Given the description of an element on the screen output the (x, y) to click on. 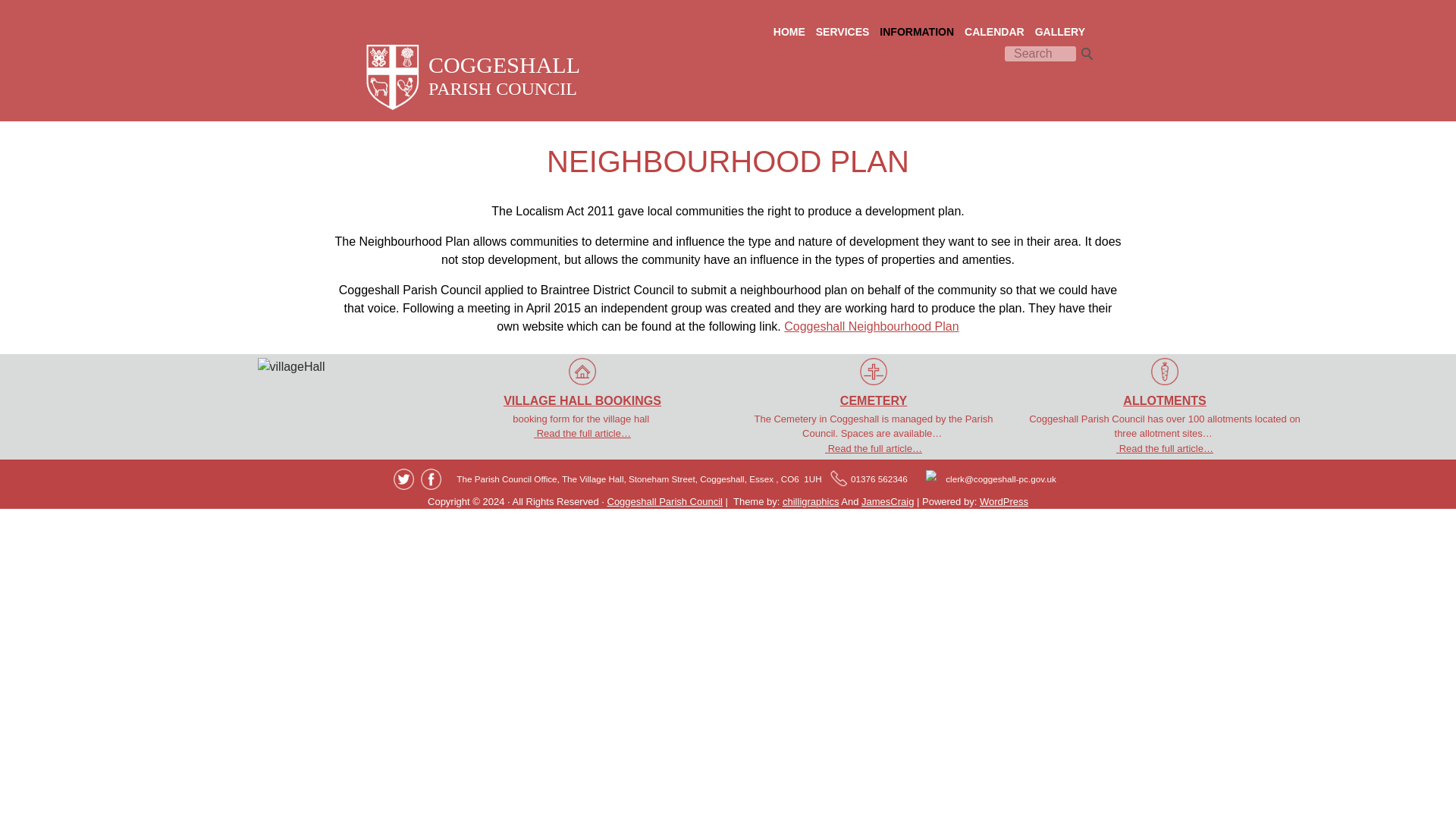
CALENDAR (994, 31)
INFORMATION (917, 31)
Coggeshall Neighbourhood Plan (871, 326)
WordPress (1003, 501)
GALLERY (1059, 31)
ALLOTMENTS (1164, 383)
CEMETERY (873, 383)
Coggeshall Parish Council (664, 501)
 And  (849, 501)
HOME (789, 31)
